Given the description of an element on the screen output the (x, y) to click on. 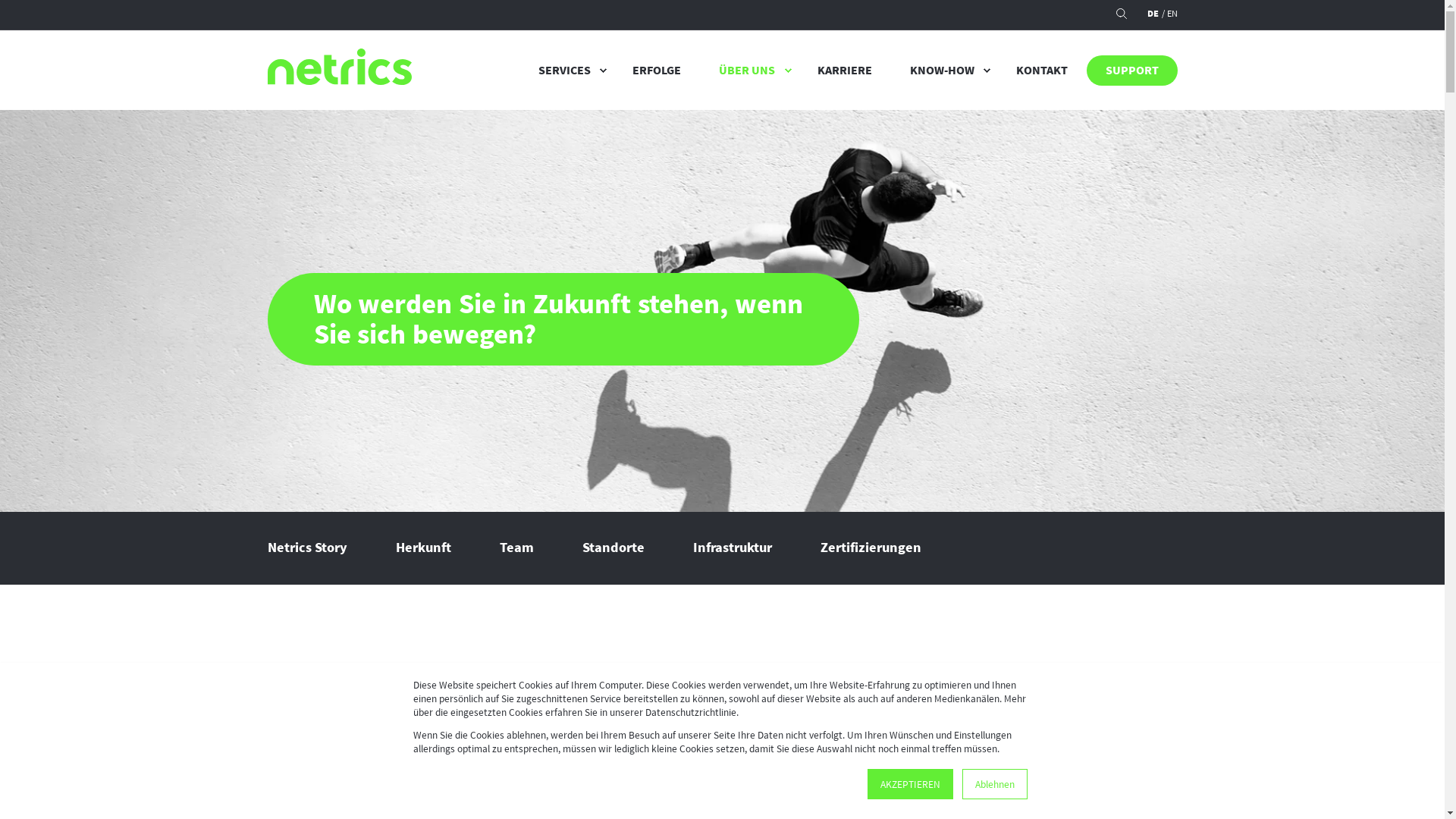
AKZEPTIEREN Element type: text (910, 783)
DE Element type: text (1152, 13)
Zertifizierungen Element type: text (870, 548)
Herkunft Element type: text (423, 548)
KARRIERE Element type: text (843, 70)
Infrastruktur Element type: text (732, 548)
Ablehnen Element type: text (993, 783)
KNOW-HOW Element type: text (943, 70)
SERVICES Element type: text (566, 70)
SUPPORT Element type: text (1130, 70)
Team Element type: text (516, 548)
ERFOLGE Element type: text (656, 70)
Standorte Element type: text (613, 548)
KONTAKT Element type: text (1040, 70)
/ EN Element type: text (1169, 13)
Netrics Story Element type: text (306, 548)
